Given the description of an element on the screen output the (x, y) to click on. 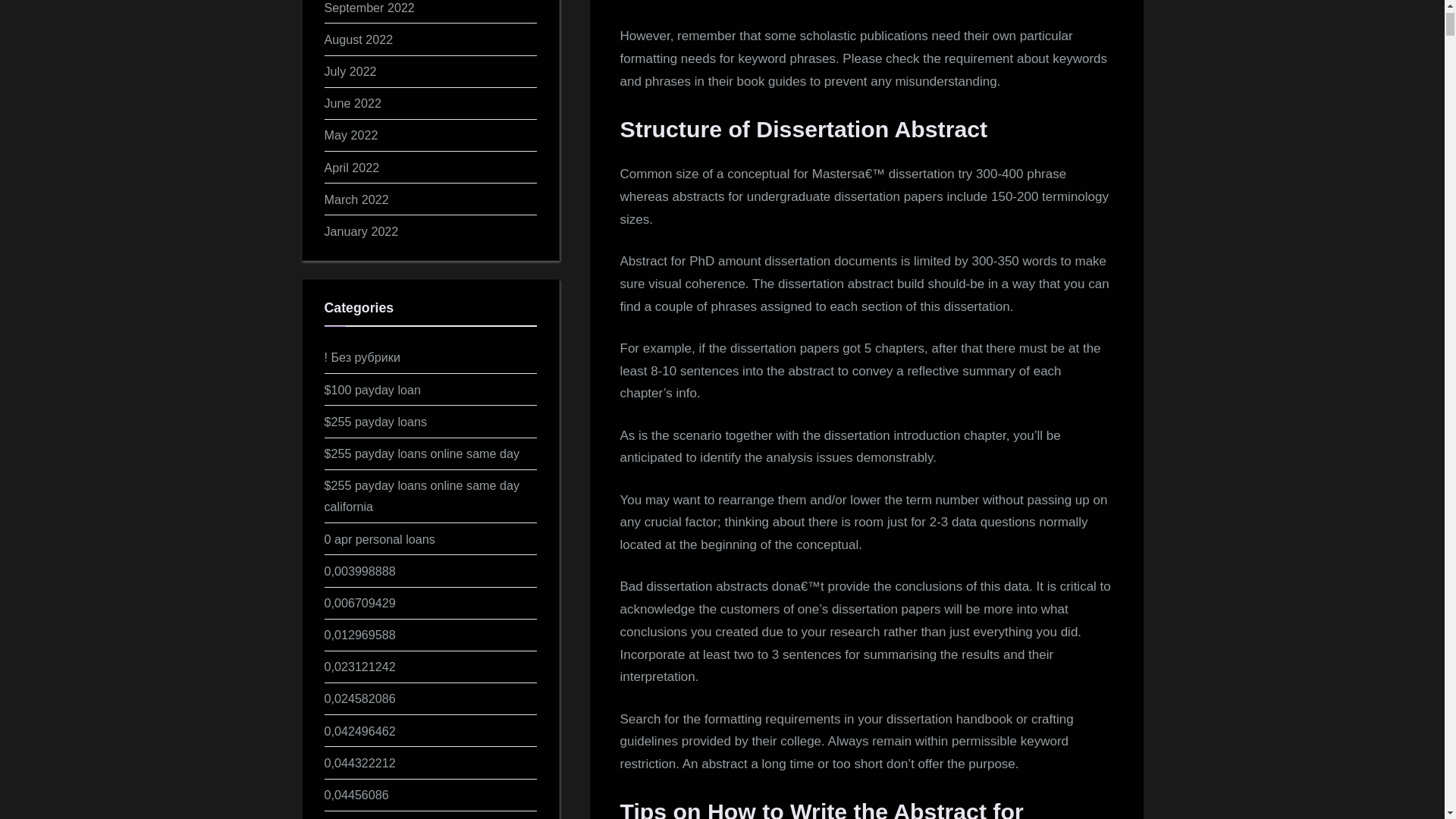
March 2022 (356, 199)
July 2022 (350, 70)
May 2022 (351, 134)
August 2022 (358, 38)
April 2022 (352, 167)
September 2022 (369, 7)
January 2022 (361, 231)
June 2022 (352, 102)
